Given the description of an element on the screen output the (x, y) to click on. 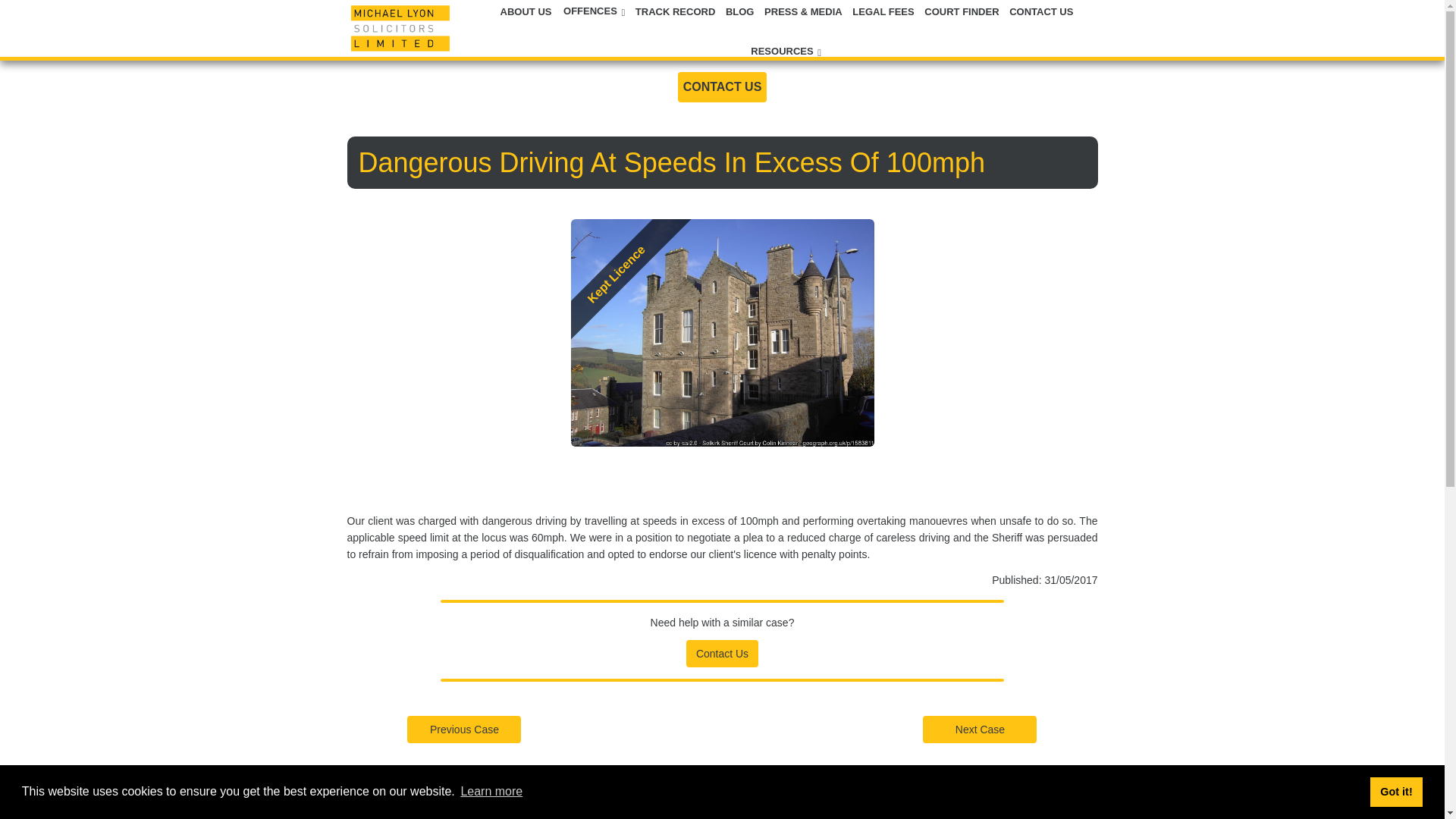
ABOUT US (526, 10)
COURT FINDER (961, 10)
Learn more (491, 791)
Next Case (979, 728)
BLOG (740, 10)
Next Case (979, 728)
Got it! (1396, 791)
Previous Case (464, 728)
CONTACT US (1041, 10)
TRACK RECORD (675, 10)
